Given the description of an element on the screen output the (x, y) to click on. 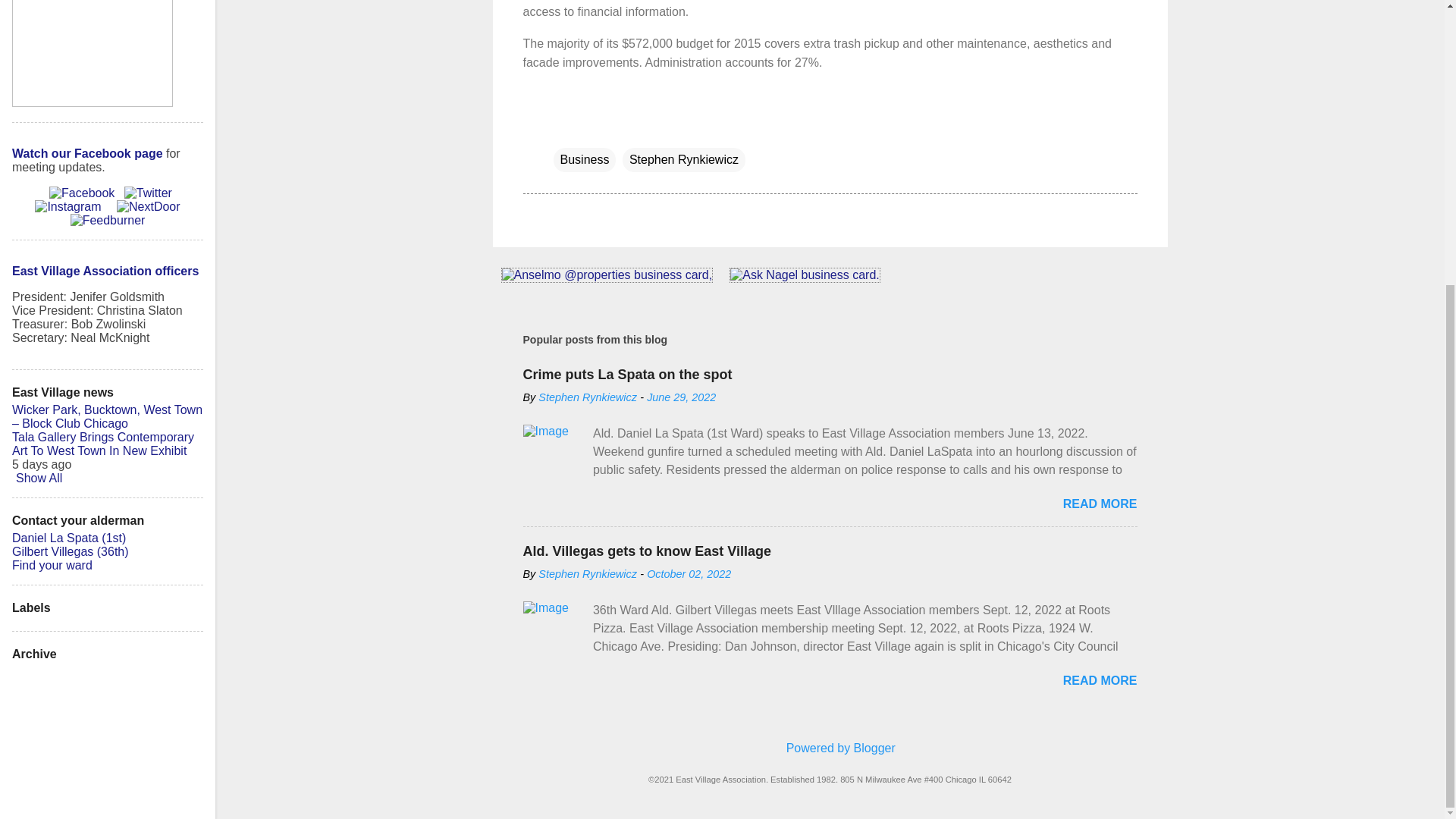
Powered by Blogger (829, 748)
READ MORE (1099, 680)
Crime puts La Spata on the spot (627, 374)
Stephen Rynkiewicz (587, 573)
Stephen Rynkiewicz (684, 159)
Watch our Facebook page (87, 153)
Business (584, 159)
June 29, 2022 (681, 397)
READ MORE (1099, 503)
Stephen Rynkiewicz (587, 397)
